Given the description of an element on the screen output the (x, y) to click on. 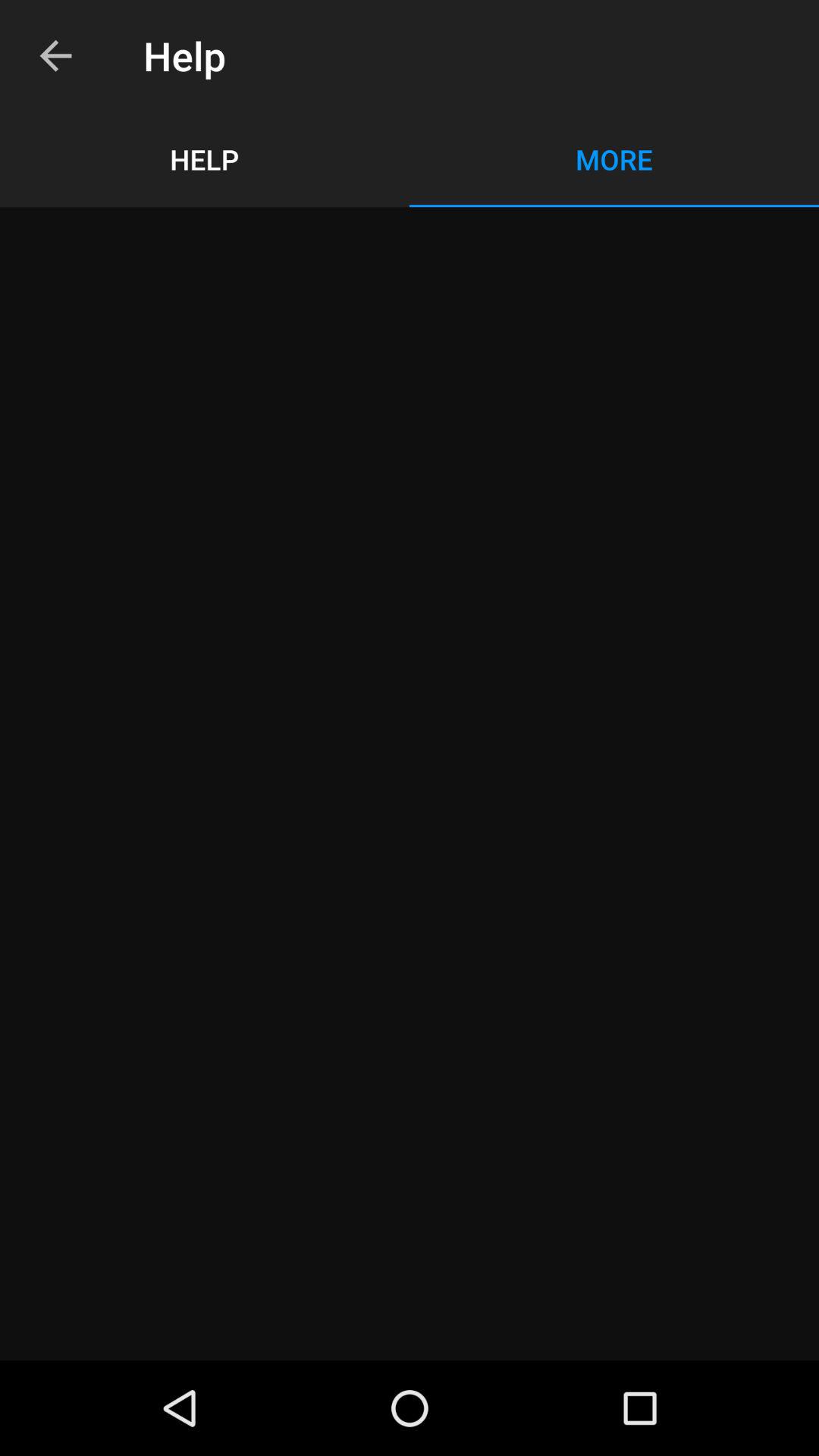
tap the icon to the left of the help (55, 55)
